Given the description of an element on the screen output the (x, y) to click on. 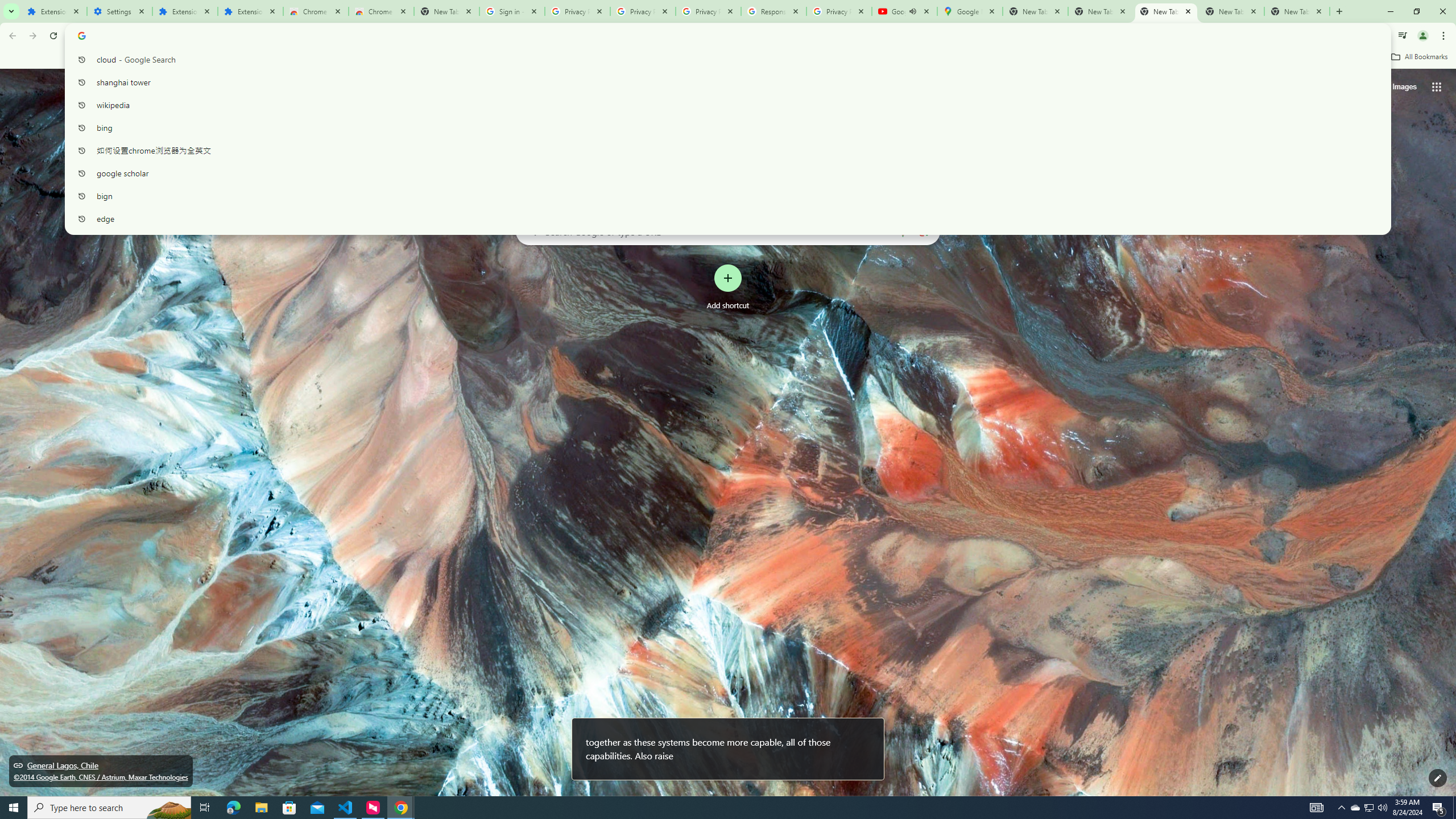
Extensions (184, 11)
Chrome Web Store (315, 11)
Chrome Web Store - Themes (381, 11)
